Given the description of an element on the screen output the (x, y) to click on. 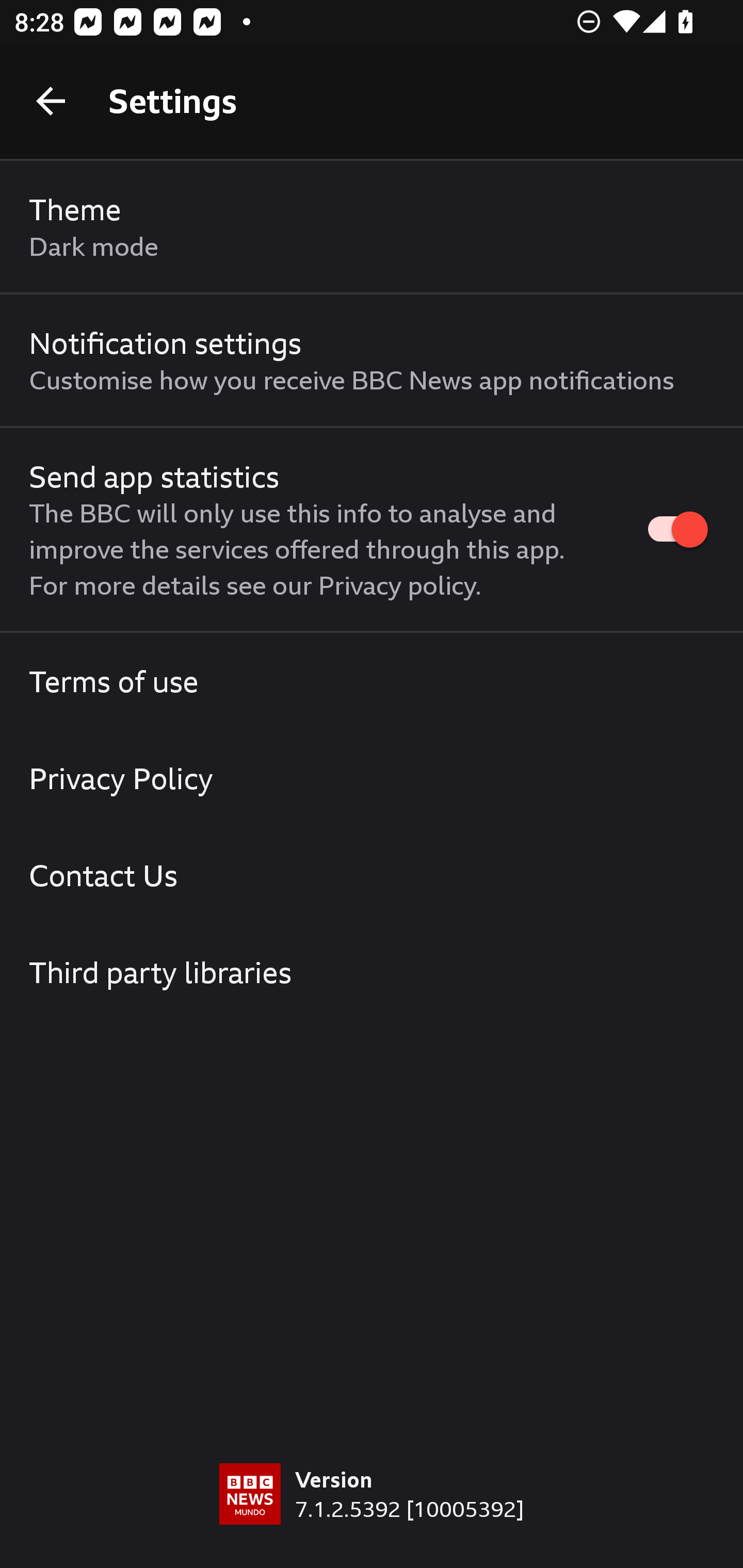
Back (50, 101)
Theme Dark mode (371, 227)
Terms of use (371, 681)
Privacy Policy (371, 777)
Contact Us (371, 874)
Third party libraries (371, 971)
Version 7.1.2.5392 [10005392] (371, 1515)
